Given the description of an element on the screen output the (x, y) to click on. 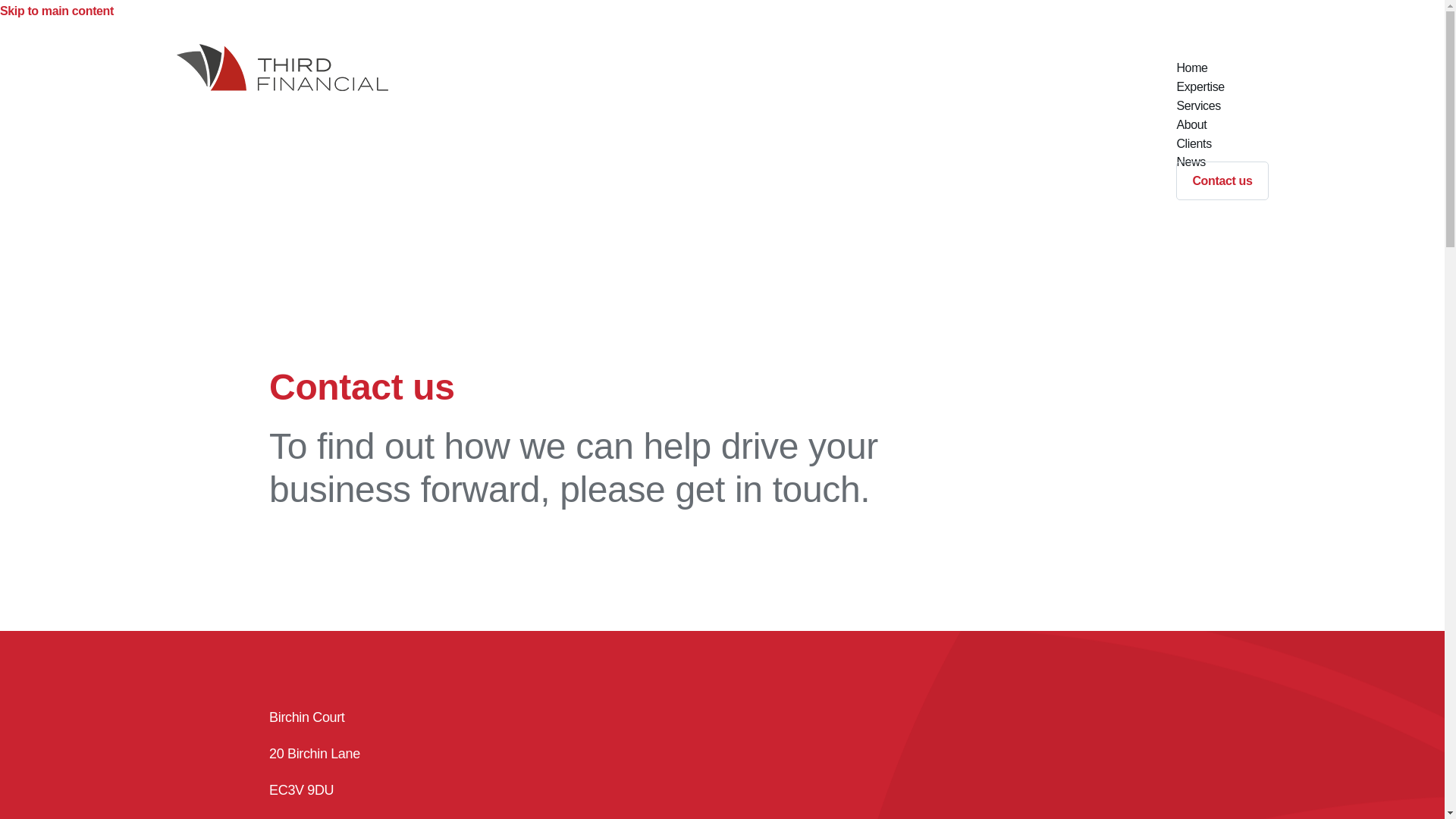
Skip to main content (56, 10)
Clients (1192, 142)
News (1190, 161)
Services (1197, 105)
Contact us (1222, 180)
Expertise (1199, 86)
Home (1191, 67)
About (1190, 124)
